Given the description of an element on the screen output the (x, y) to click on. 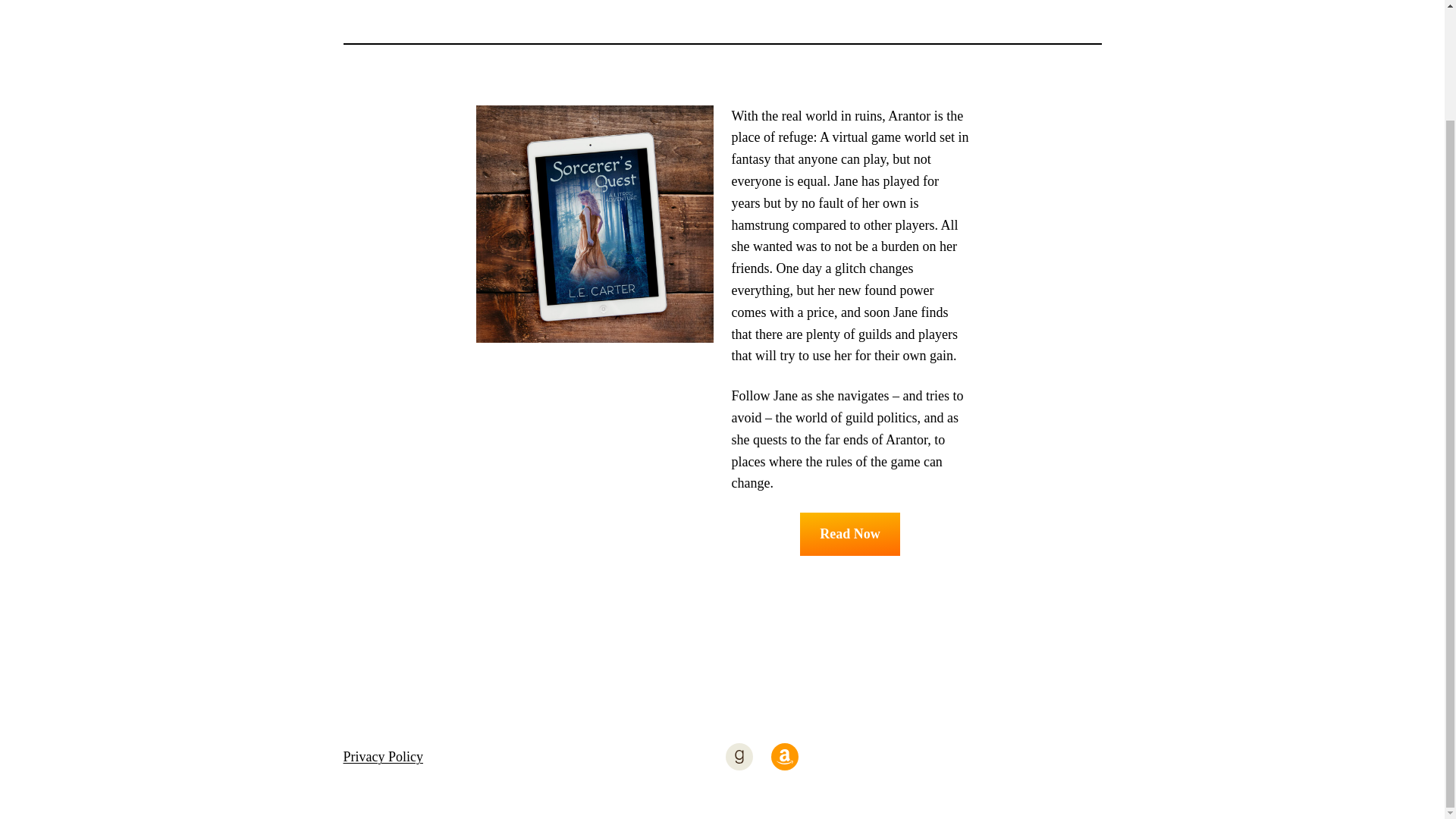
Privacy Policy (382, 756)
Amazon (784, 756)
Goodreads (738, 756)
Read Now (849, 534)
